Given the description of an element on the screen output the (x, y) to click on. 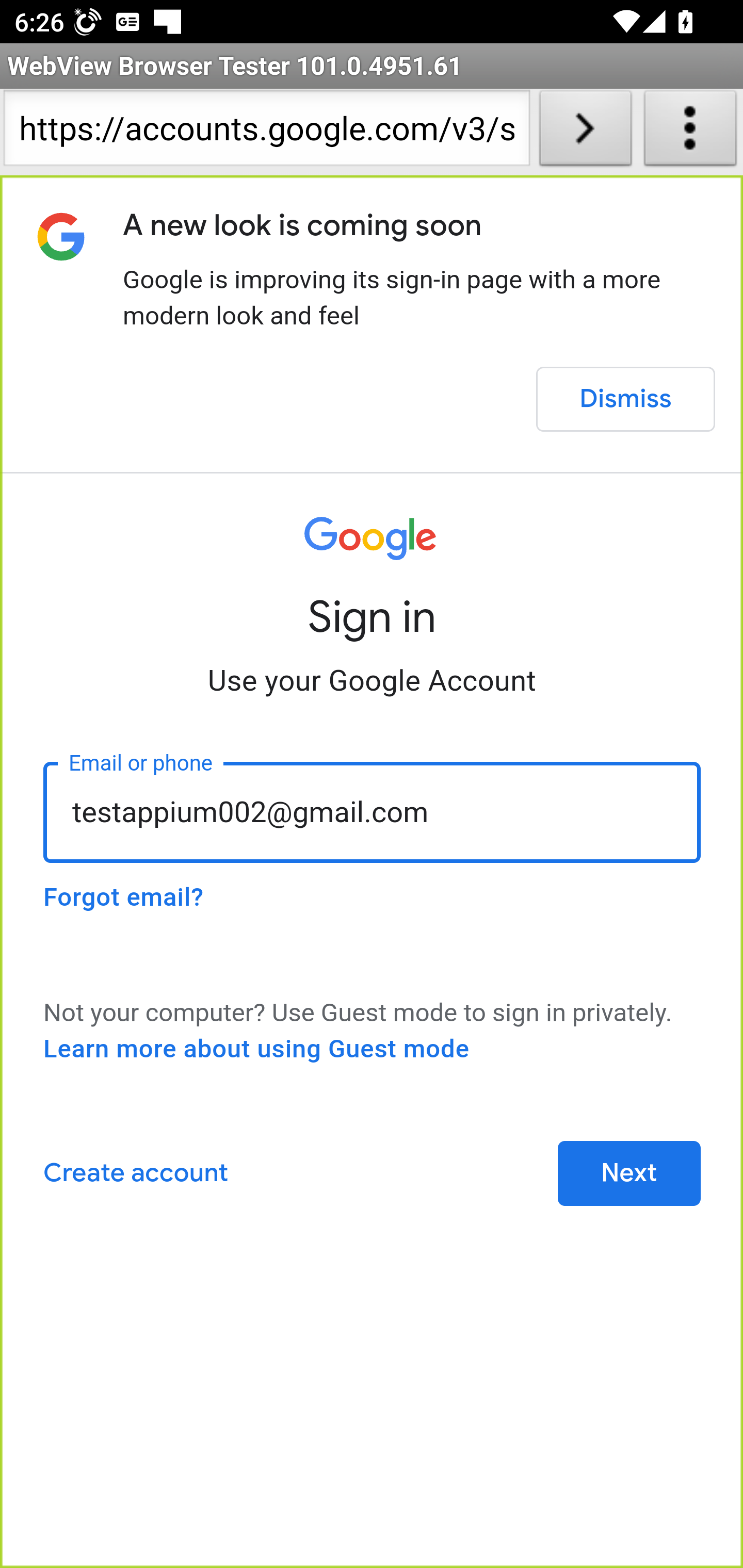
Load URL (585, 132)
About WebView (690, 132)
Dismiss (625, 398)
testappium002@gmail.com (372, 811)
Forgot email? (123, 897)
Learn more about using Guest mode (256, 1048)
Create account (134, 1173)
Next (629, 1173)
